Given the description of an element on the screen output the (x, y) to click on. 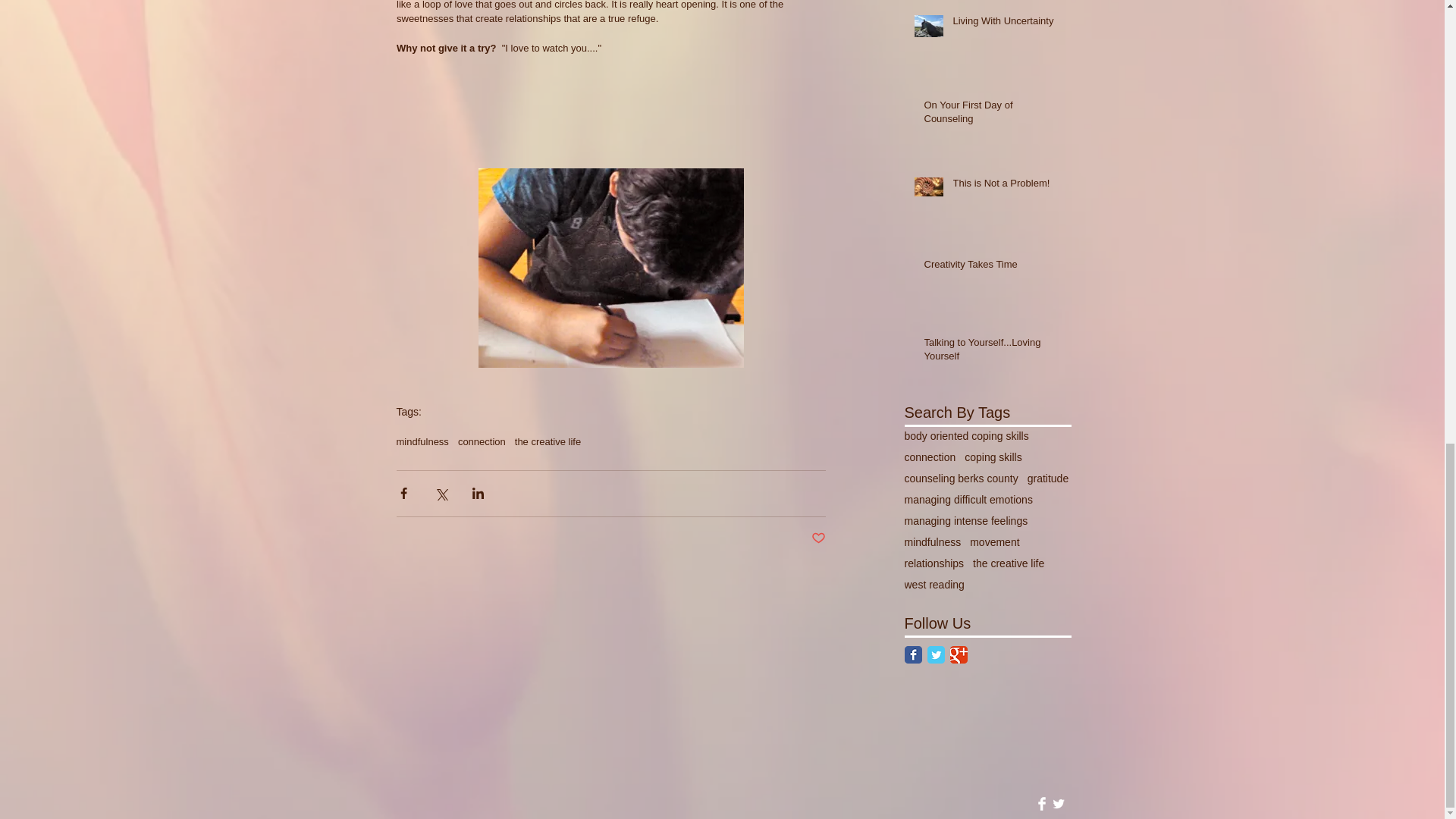
Creativity Takes Time (992, 267)
Post not marked as liked (817, 538)
Living With Uncertainty (1006, 24)
the creative life (547, 441)
On Your First Day of Counseling (992, 114)
body oriented coping skills (965, 435)
coping skills (992, 457)
Talking to Yourself...Loving Yourself (992, 352)
connection (481, 441)
mindfulness (422, 441)
